Given the description of an element on the screen output the (x, y) to click on. 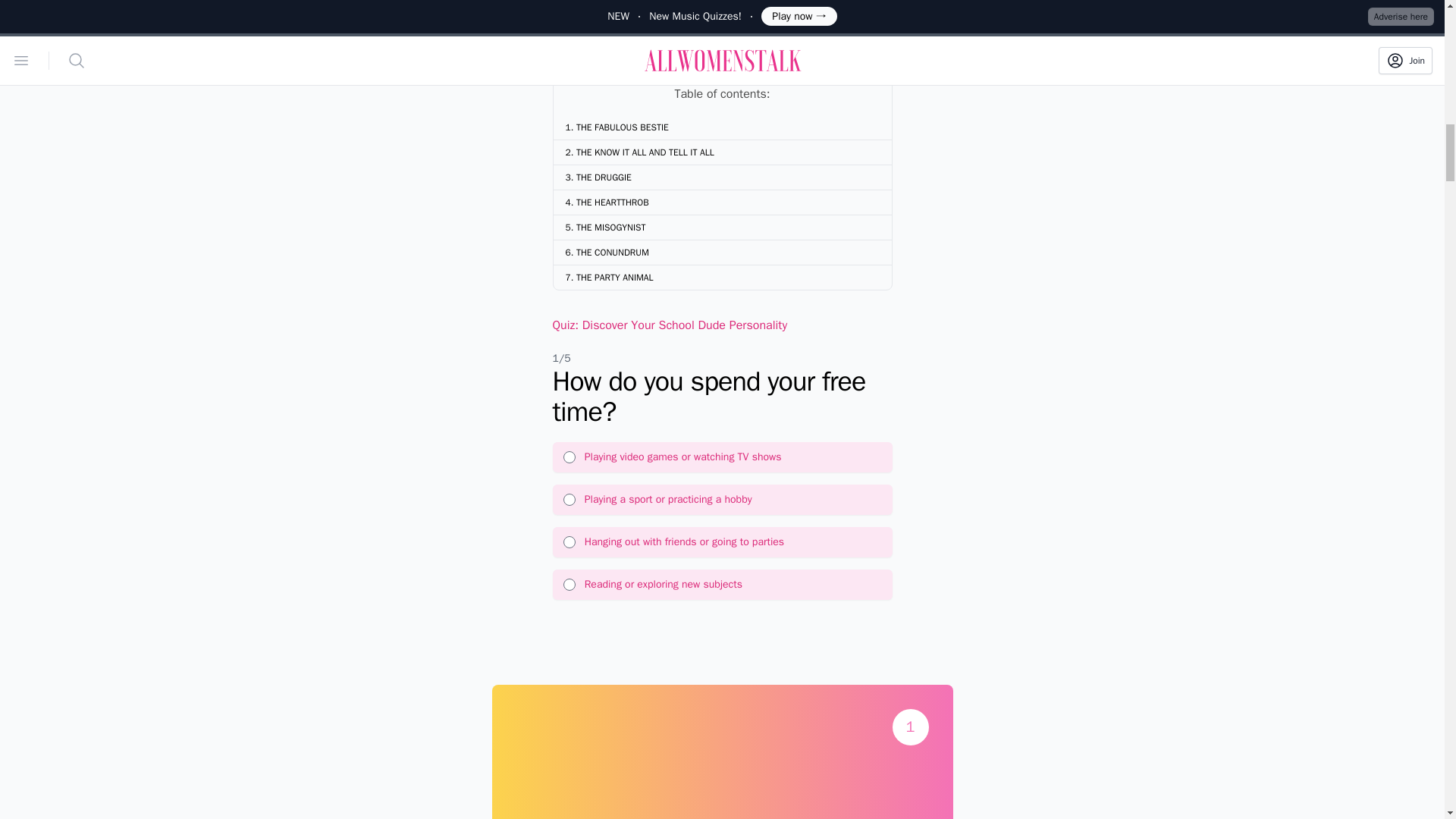
A (568, 457)
C (568, 541)
D (568, 584)
B (568, 499)
